Given the description of an element on the screen output the (x, y) to click on. 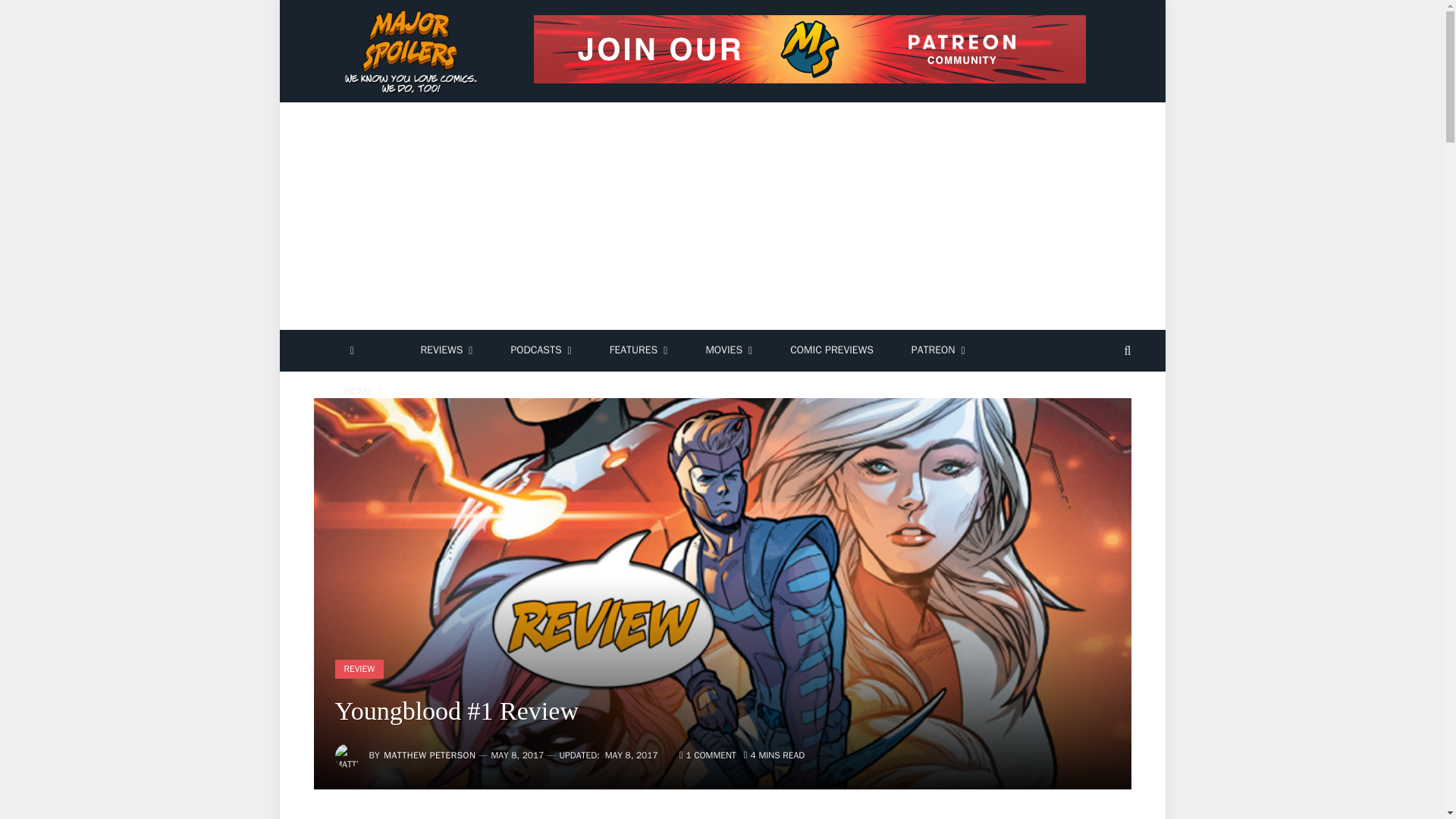
REVIEWS (446, 350)
Posts by Matthew Peterson (430, 755)
HOME (362, 392)
PODCASTS (540, 350)
Major Spoilers (412, 51)
